Given the description of an element on the screen output the (x, y) to click on. 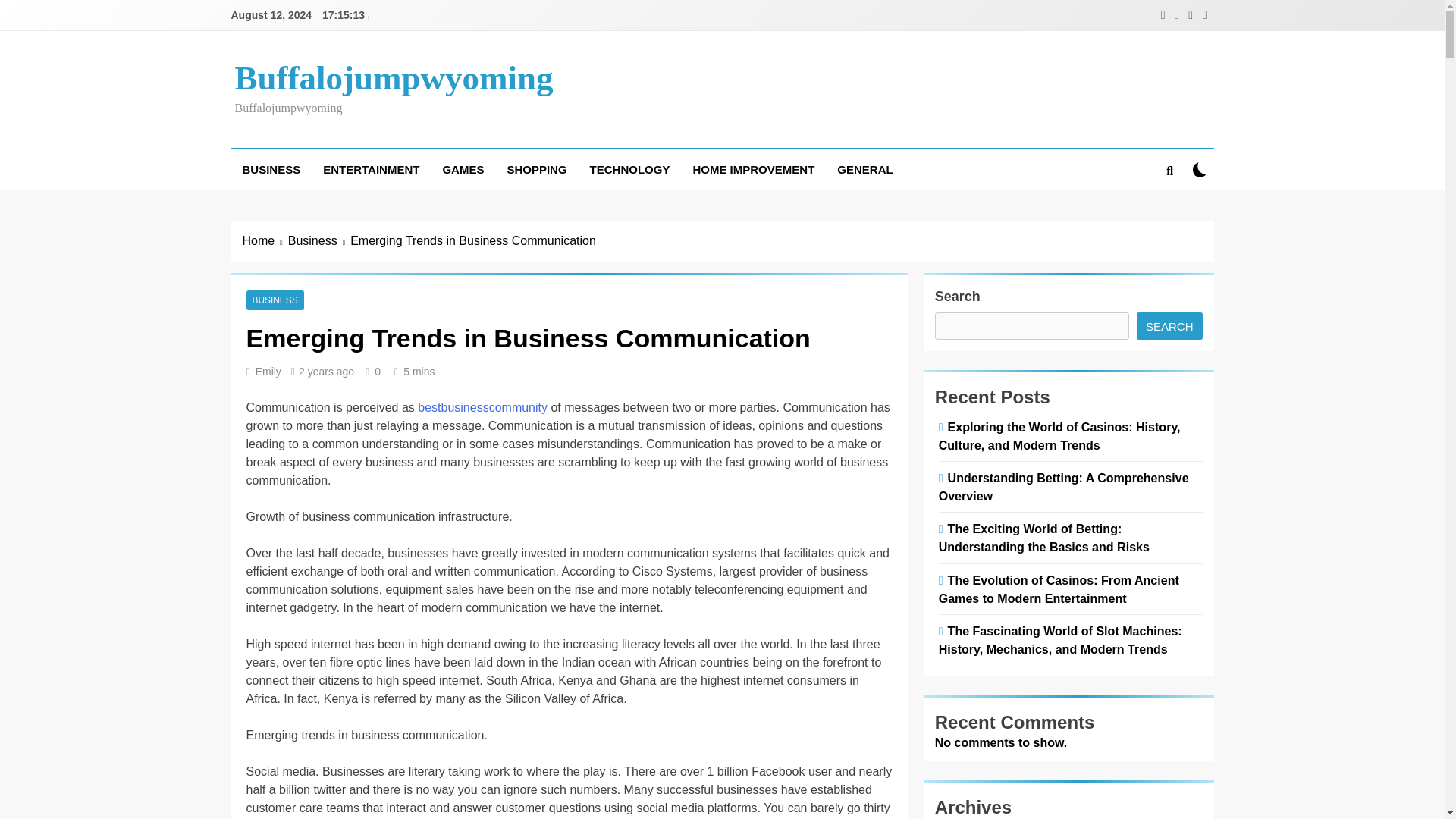
Home (265, 240)
ENTERTAINMENT (370, 169)
HOME IMPROVEMENT (753, 169)
2 years ago (325, 371)
BUSINESS (270, 169)
GENERAL (864, 169)
Emily (268, 371)
Understanding Betting: A Comprehensive Overview (1064, 486)
TECHNOLOGY (629, 169)
